Given the description of an element on the screen output the (x, y) to click on. 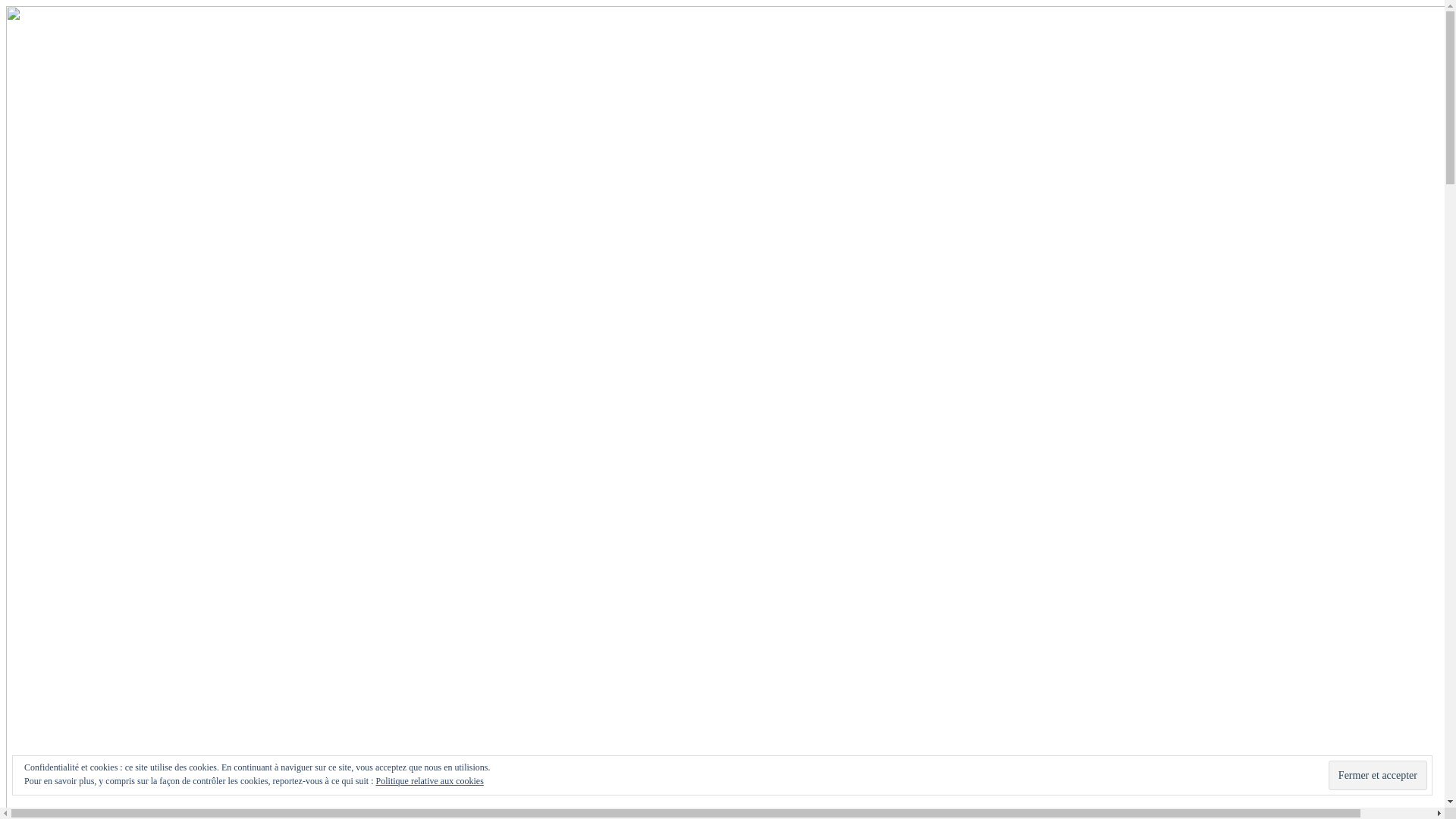
Aller au contenu principal Element type: text (5, 5)
Politique relative aux cookies Element type: text (429, 780)
Fermer et accepter Element type: text (1377, 775)
